Given the description of an element on the screen output the (x, y) to click on. 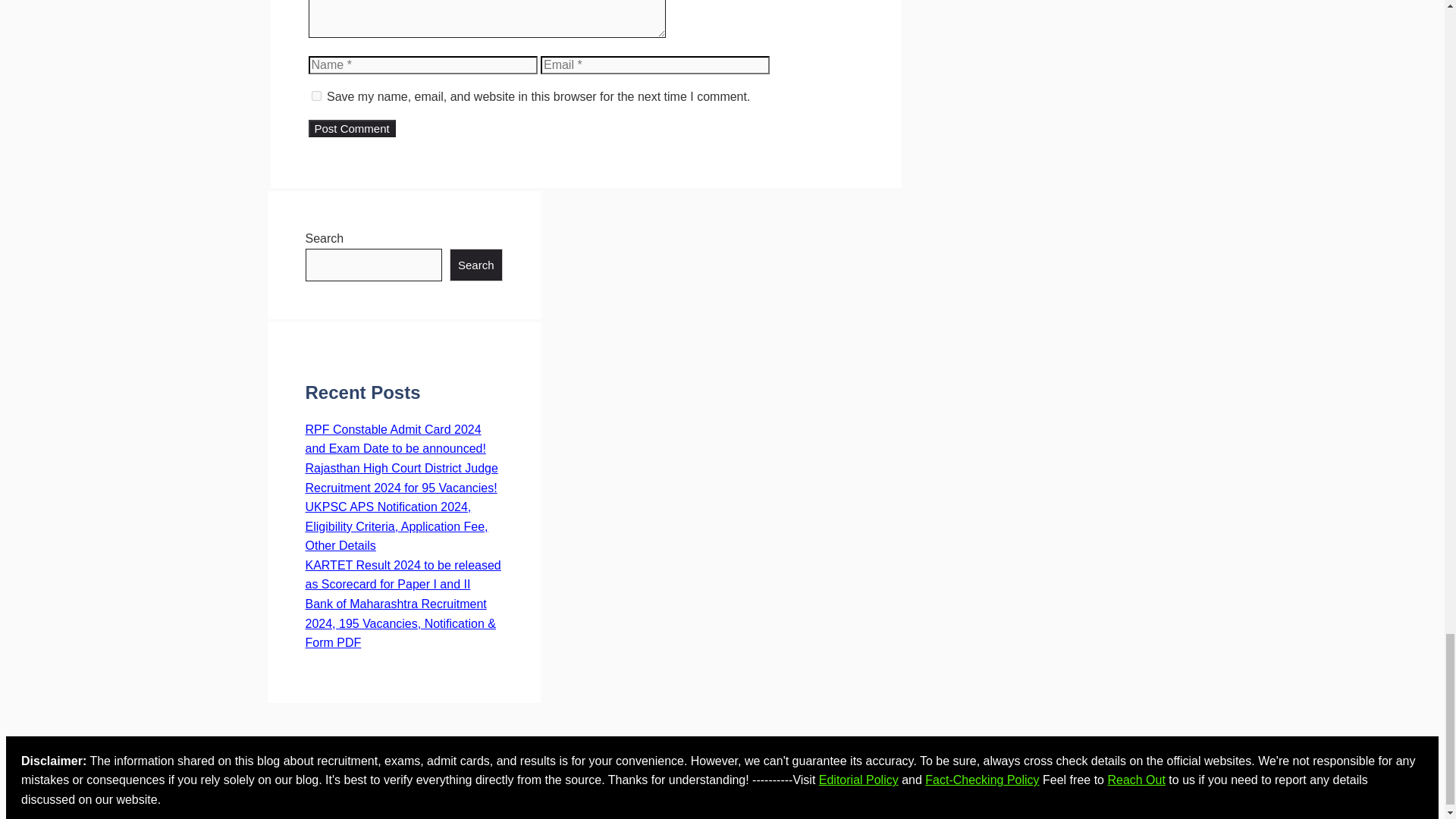
Search (475, 264)
yes (315, 95)
Post Comment (350, 128)
Editorial Policy (858, 779)
Fact-Checking Policy (981, 779)
RPF Constable Admit Card 2024 and Exam Date to be announced! (394, 439)
Post Comment (350, 128)
Reach Out (1135, 779)
